Given the description of an element on the screen output the (x, y) to click on. 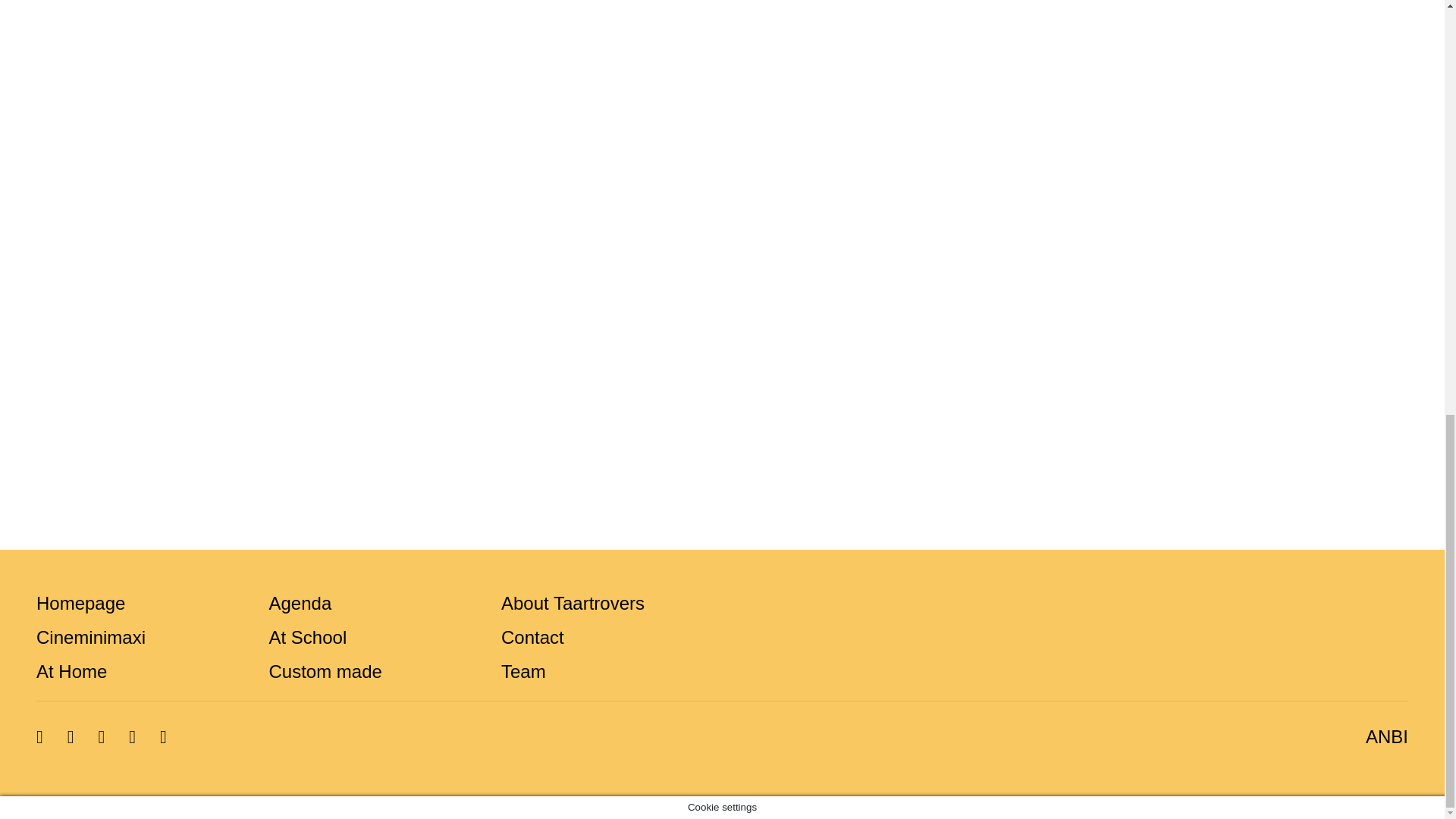
ANBI (1380, 736)
Contact (532, 637)
Cineminimaxi (90, 637)
Team (523, 670)
Homepage (80, 602)
Custom made (324, 670)
At School (306, 637)
Agenda (299, 602)
At Home (71, 670)
About Taartrovers (572, 602)
